Given the description of an element on the screen output the (x, y) to click on. 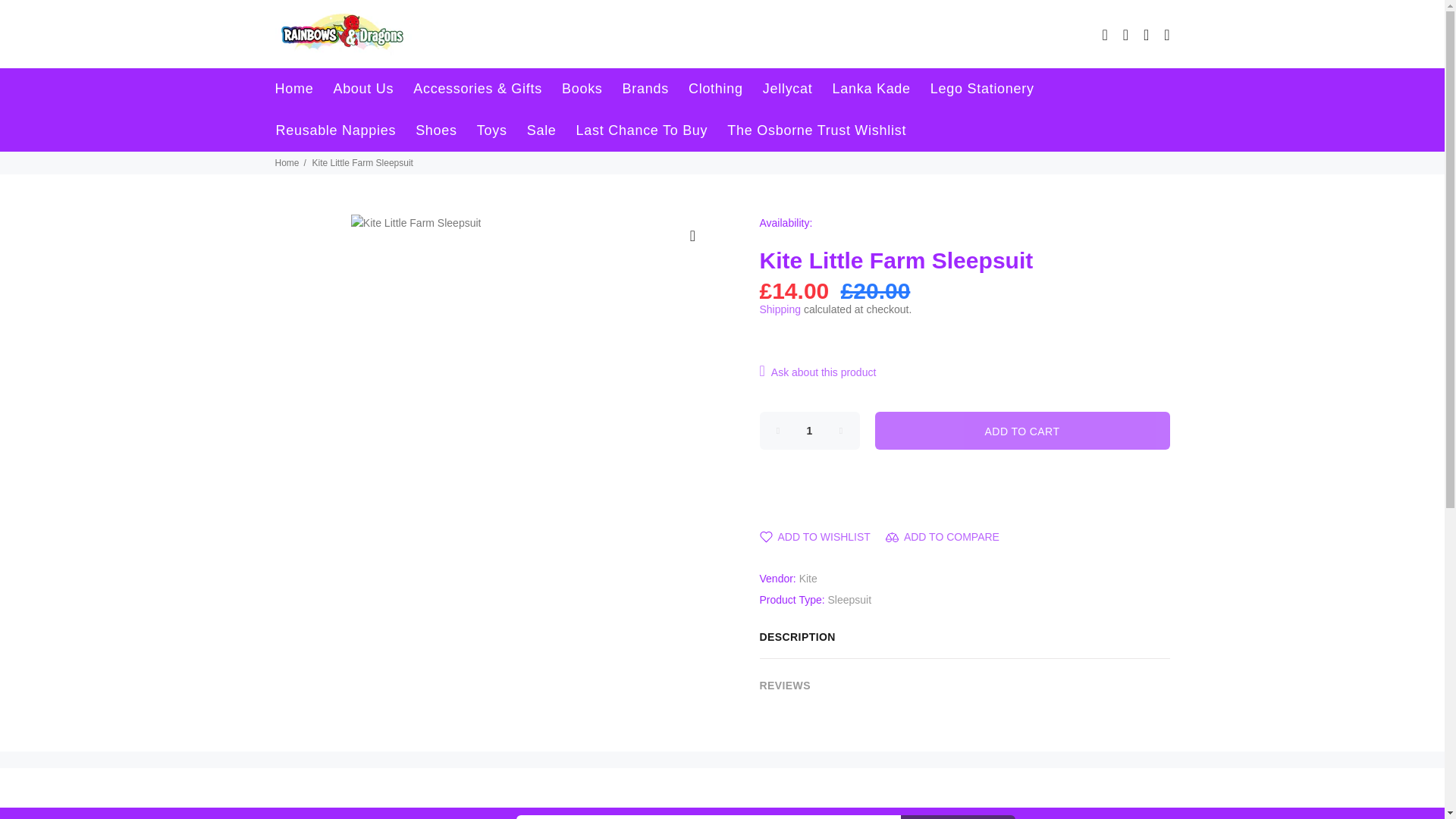
1 (810, 430)
